Given the description of an element on the screen output the (x, y) to click on. 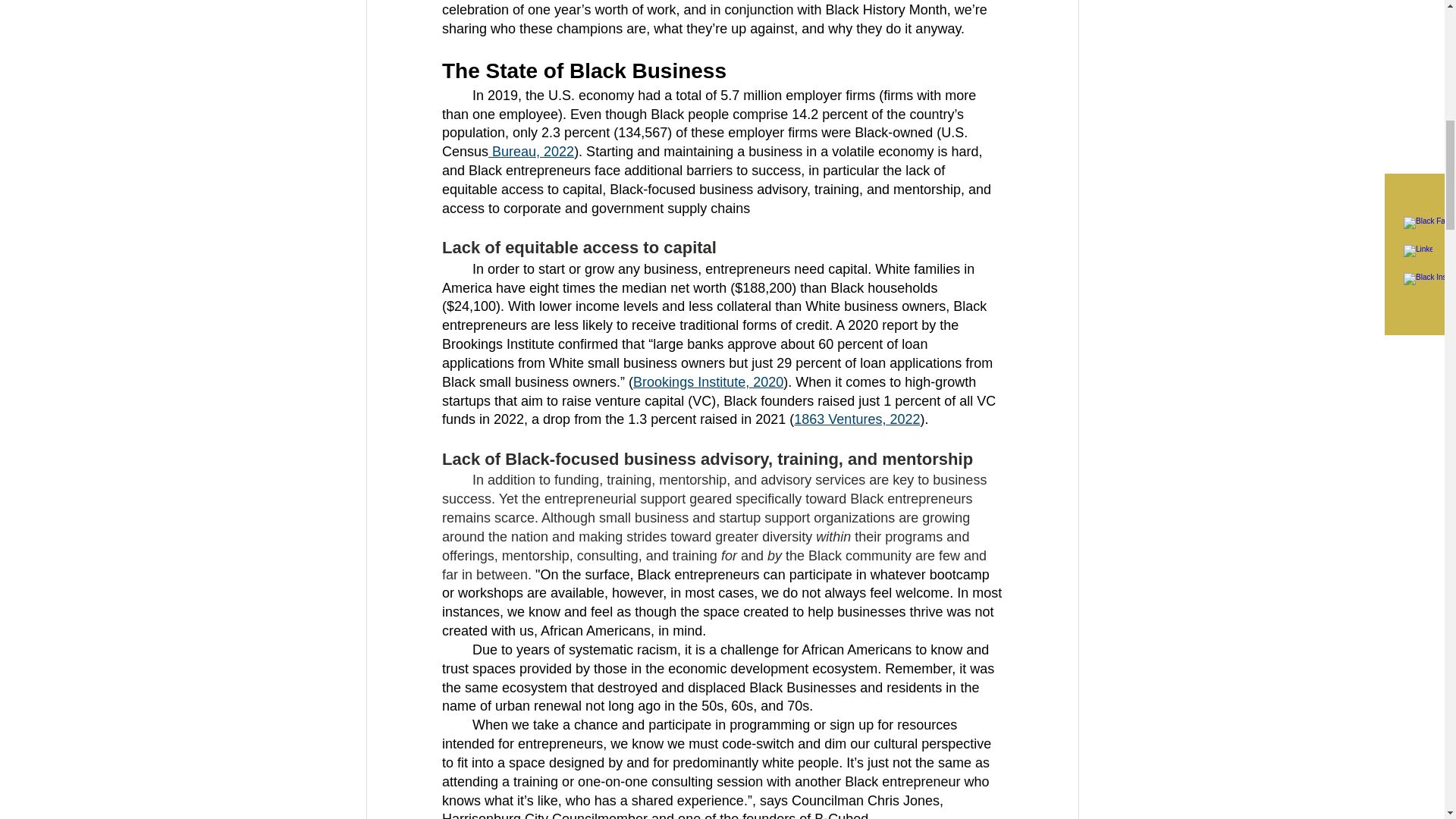
Brookings Institute, 2020 (708, 381)
1863 Ventures, 2022 (856, 418)
 Bureau, 2022 (530, 151)
